Given the description of an element on the screen output the (x, y) to click on. 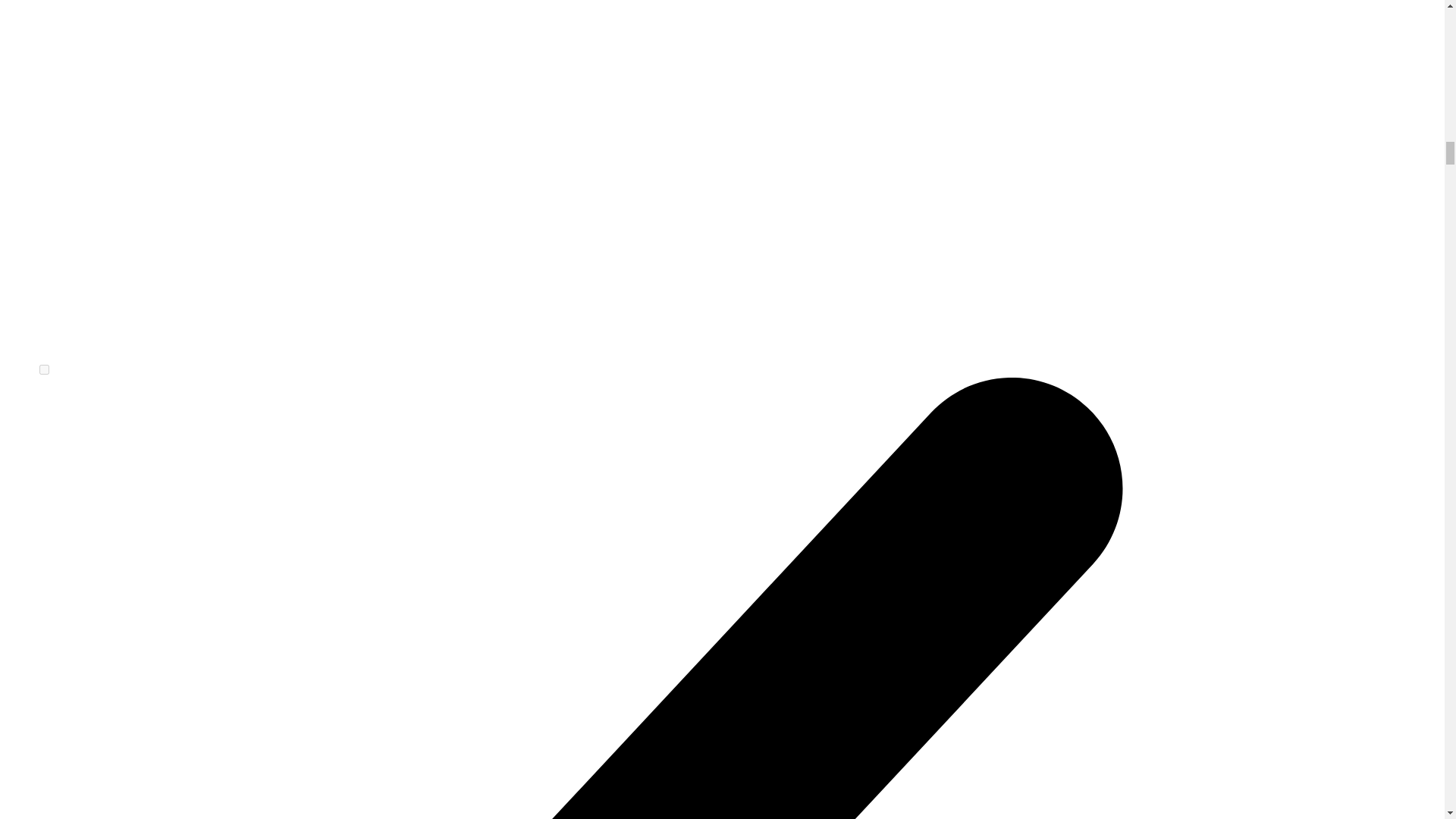
on (44, 369)
